Given the description of an element on the screen output the (x, y) to click on. 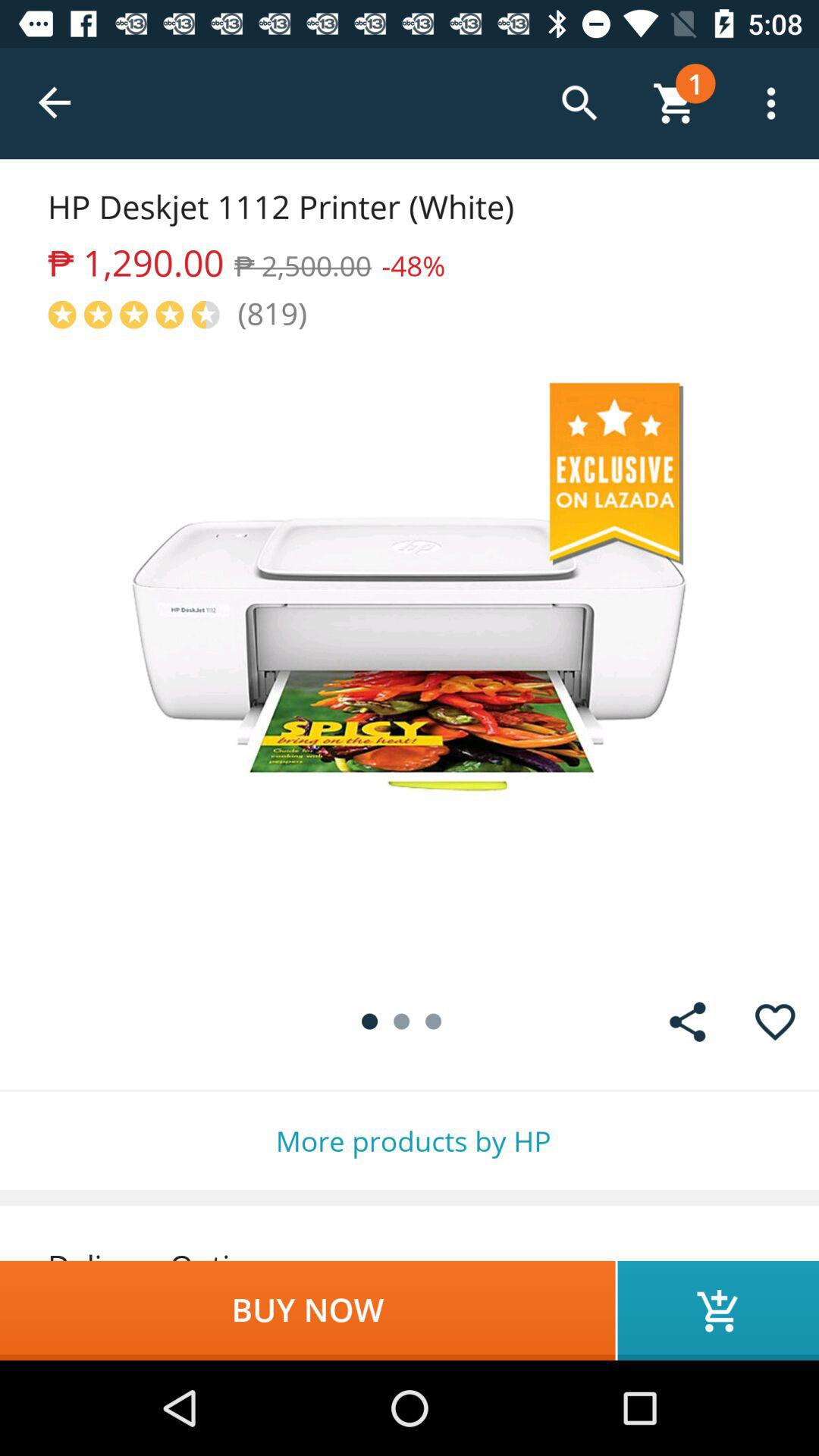
share the item (687, 1021)
